Given the description of an element on the screen output the (x, y) to click on. 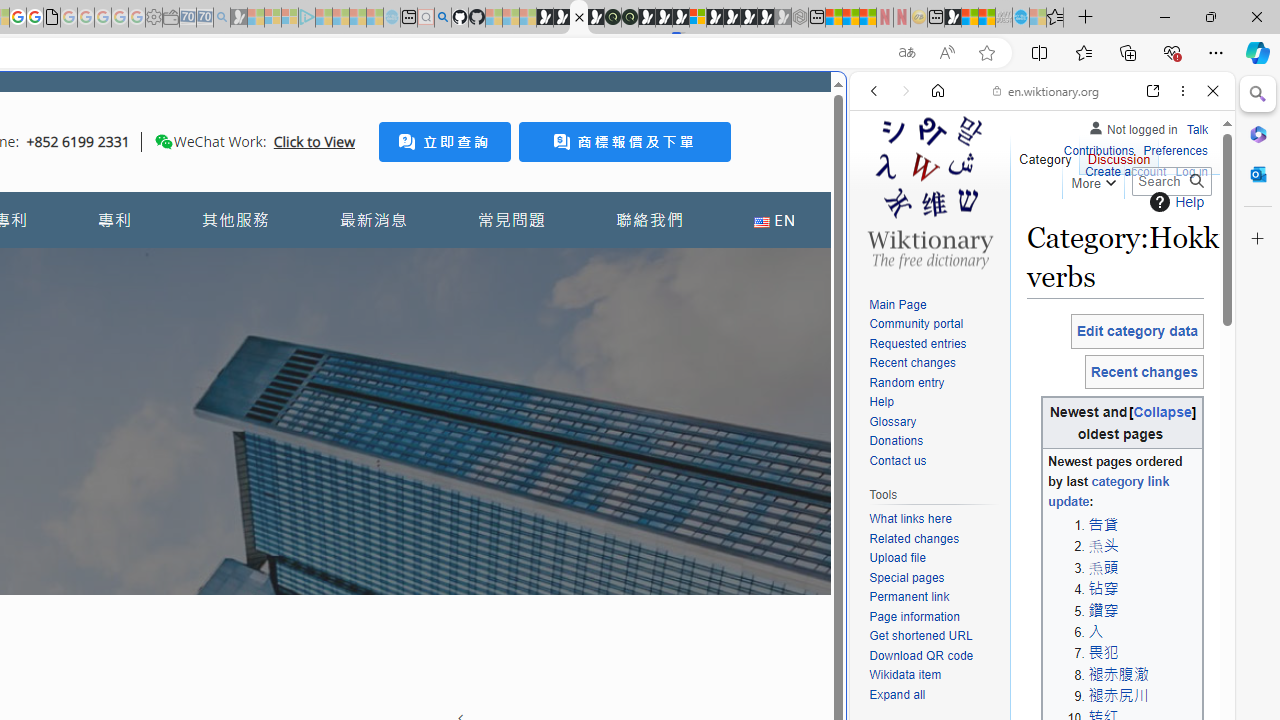
What links here (934, 519)
Page information (914, 616)
Category (1045, 154)
